Given the description of an element on the screen output the (x, y) to click on. 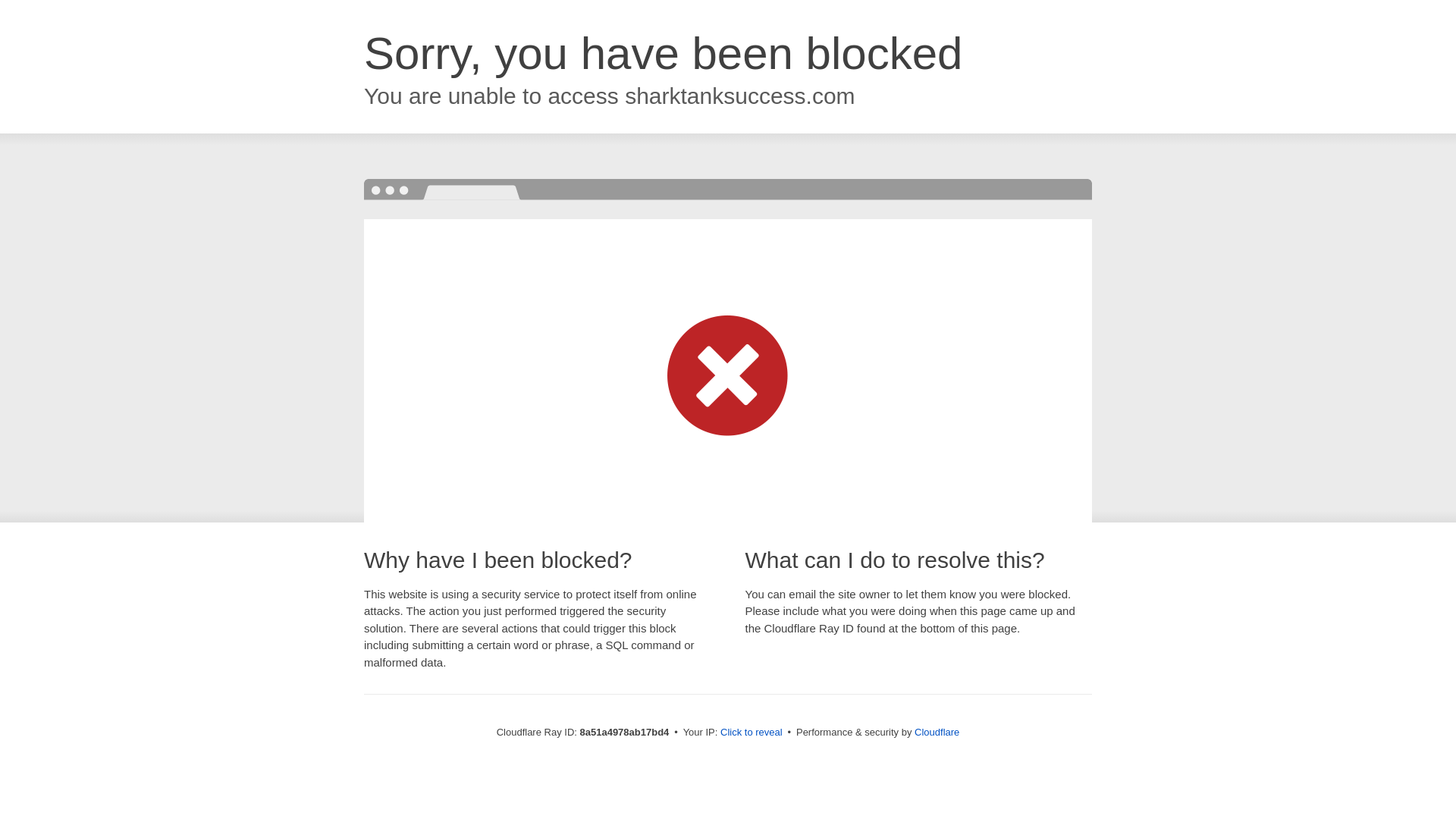
Click to reveal (751, 732)
Cloudflare (936, 731)
